Given the description of an element on the screen output the (x, y) to click on. 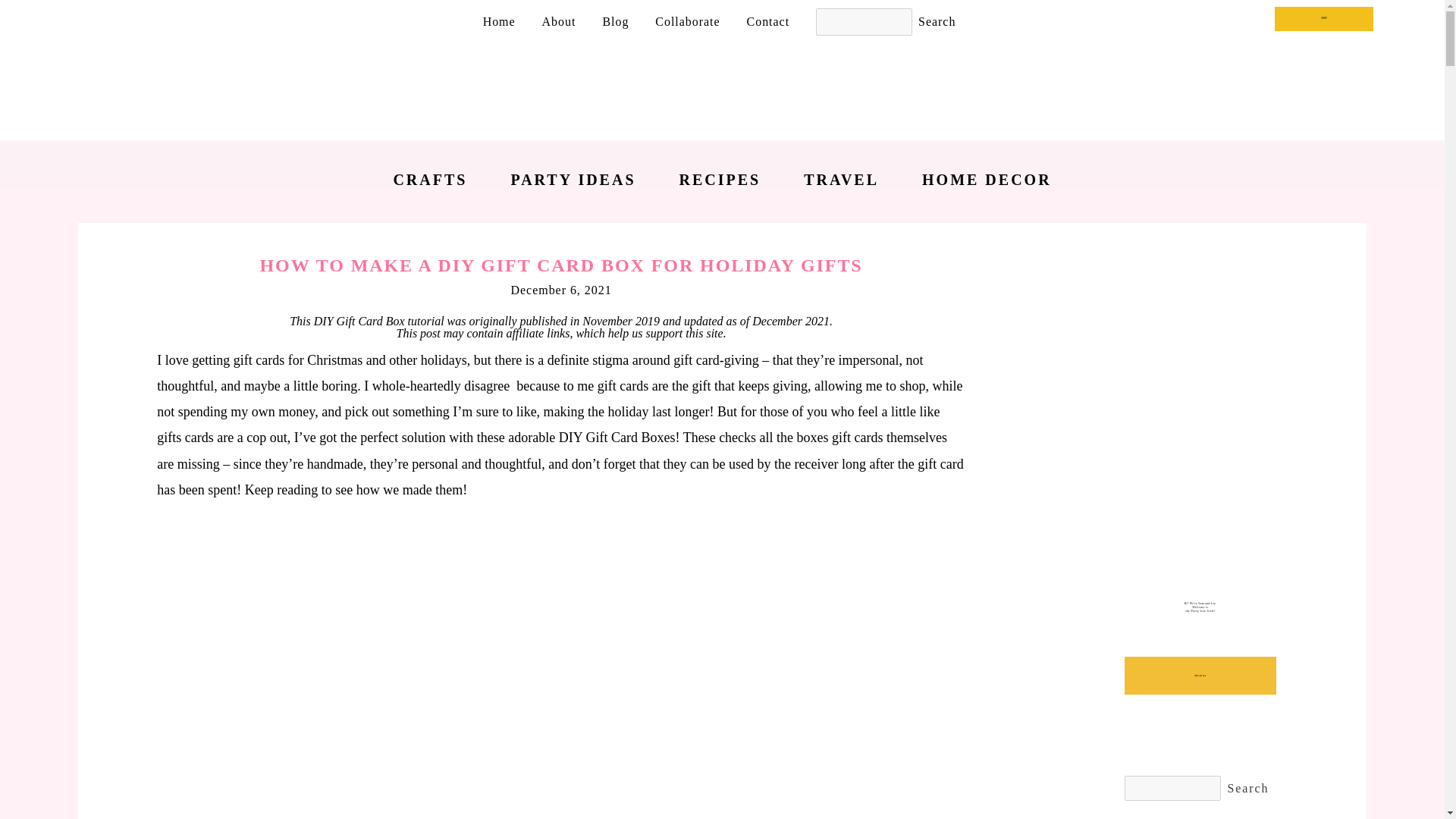
Search (936, 21)
About (558, 21)
Search (1247, 788)
TRAVEL (841, 179)
SHOP (1324, 18)
Search (936, 21)
PARTY IDEAS (572, 179)
Search (936, 21)
Search (1247, 788)
Collaborate (687, 21)
